Given the description of an element on the screen output the (x, y) to click on. 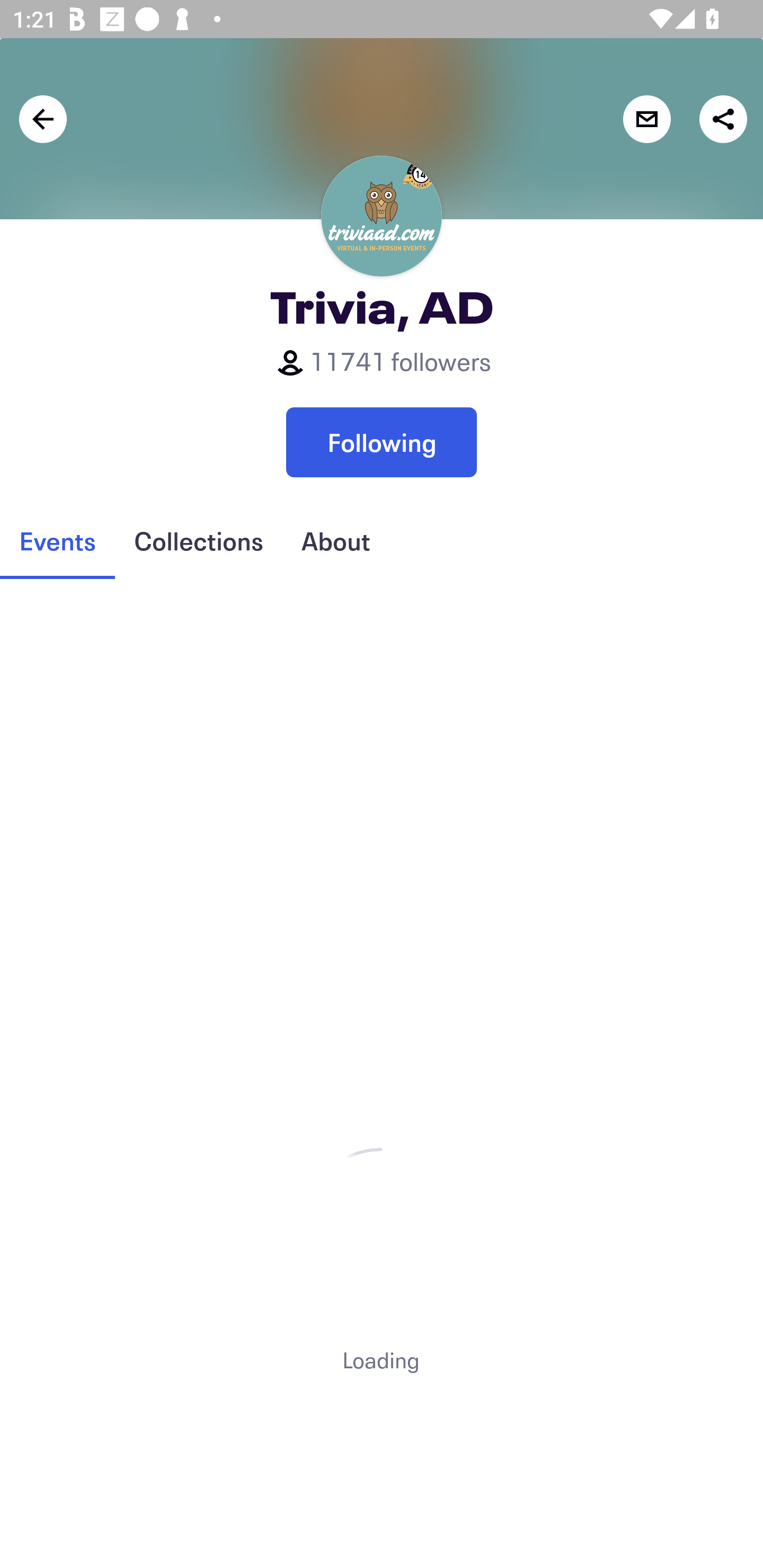
Back navigation arrow (43, 118)
Contact organizer (646, 118)
Share with friends (722, 118)
Following (381, 441)
Collections (198, 540)
About (335, 540)
